Given the description of an element on the screen output the (x, y) to click on. 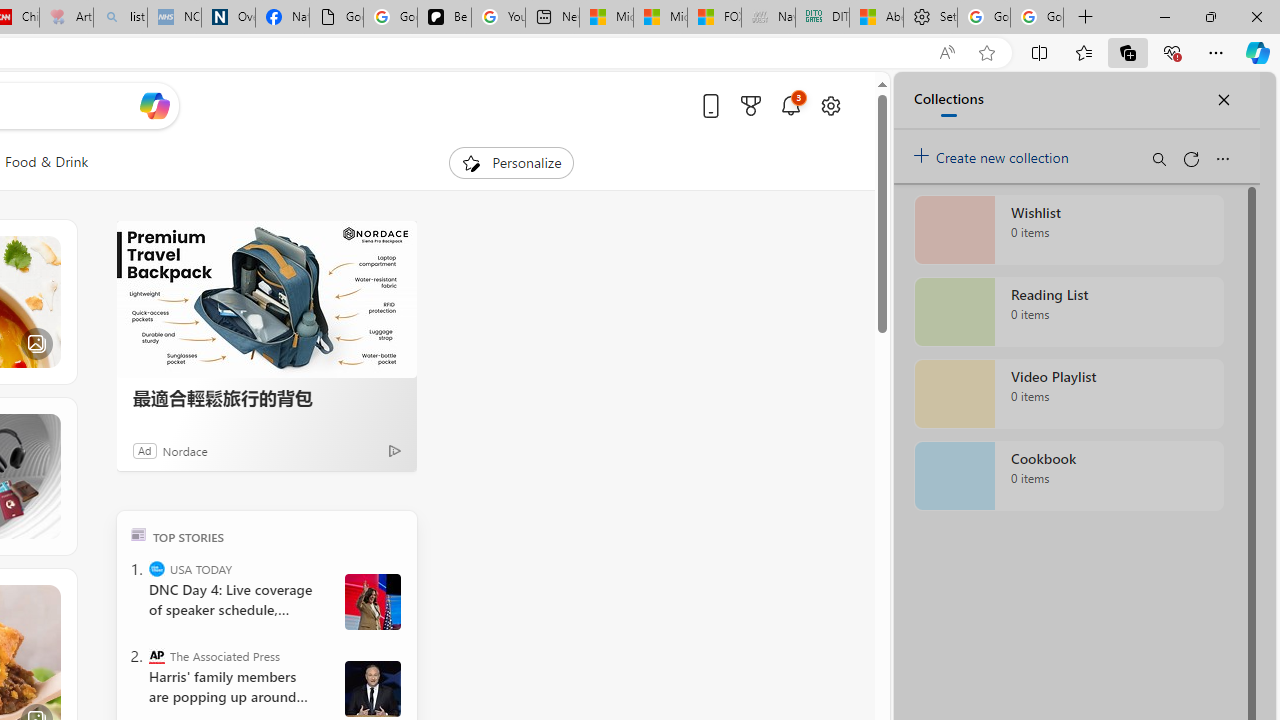
FOX News - MSN (714, 17)
Be Smart | creating Science videos | Patreon (444, 17)
